Given the description of an element on the screen output the (x, y) to click on. 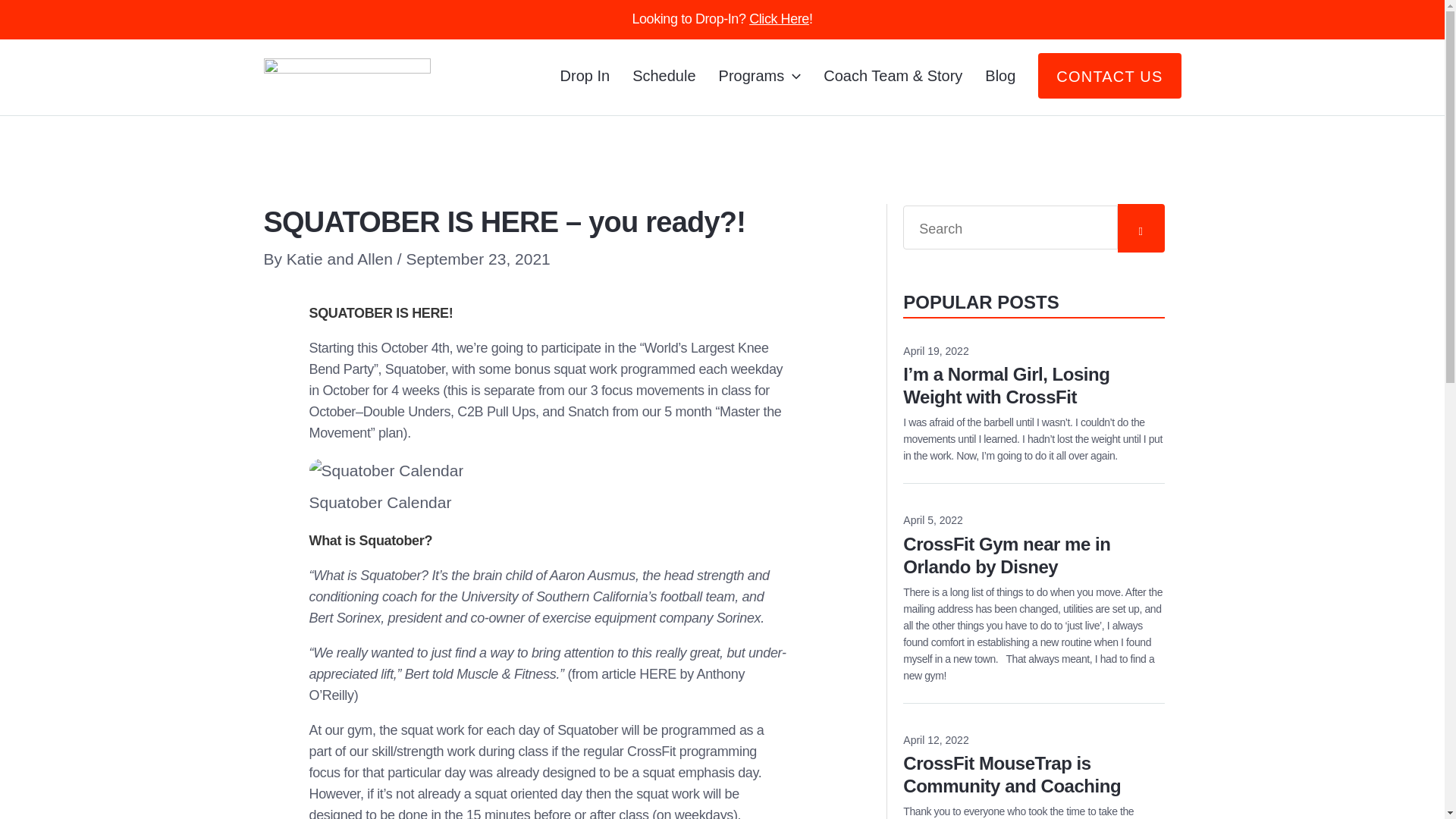
Click Here (779, 18)
Katie and Allen (341, 258)
Drop In (584, 75)
View all posts by Katie and Allen (341, 258)
CONTACT US (1109, 75)
Schedule (1033, 546)
Programs (663, 75)
Blog (1033, 766)
